Given the description of an element on the screen output the (x, y) to click on. 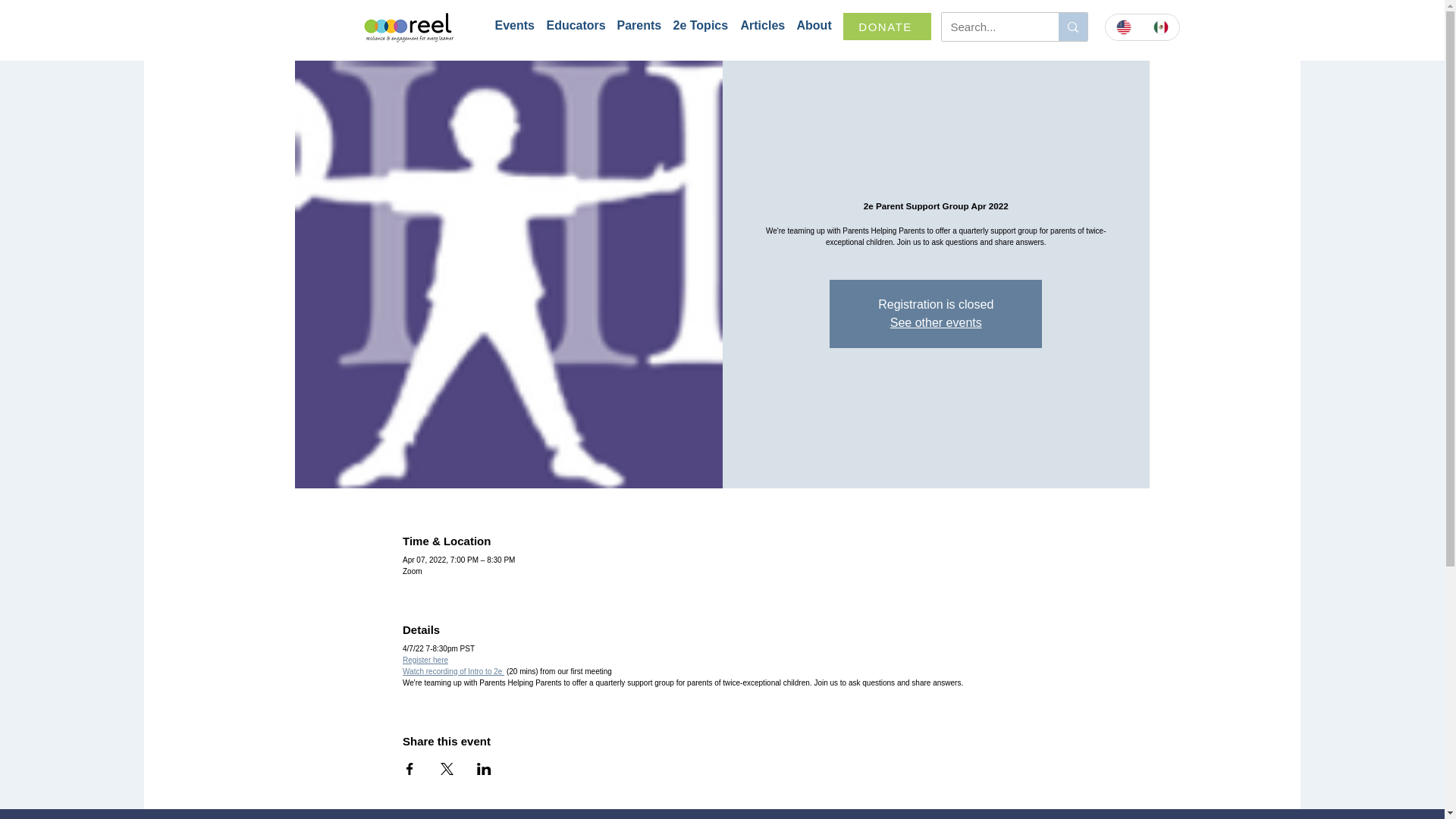
Events (512, 25)
Articles (760, 25)
Parents (637, 25)
About (812, 25)
Register here (425, 659)
2e Topics (699, 25)
See other events (935, 322)
DONATE (887, 26)
Watch recording of Intro to 2e (453, 671)
Educators (573, 25)
